Given the description of an element on the screen output the (x, y) to click on. 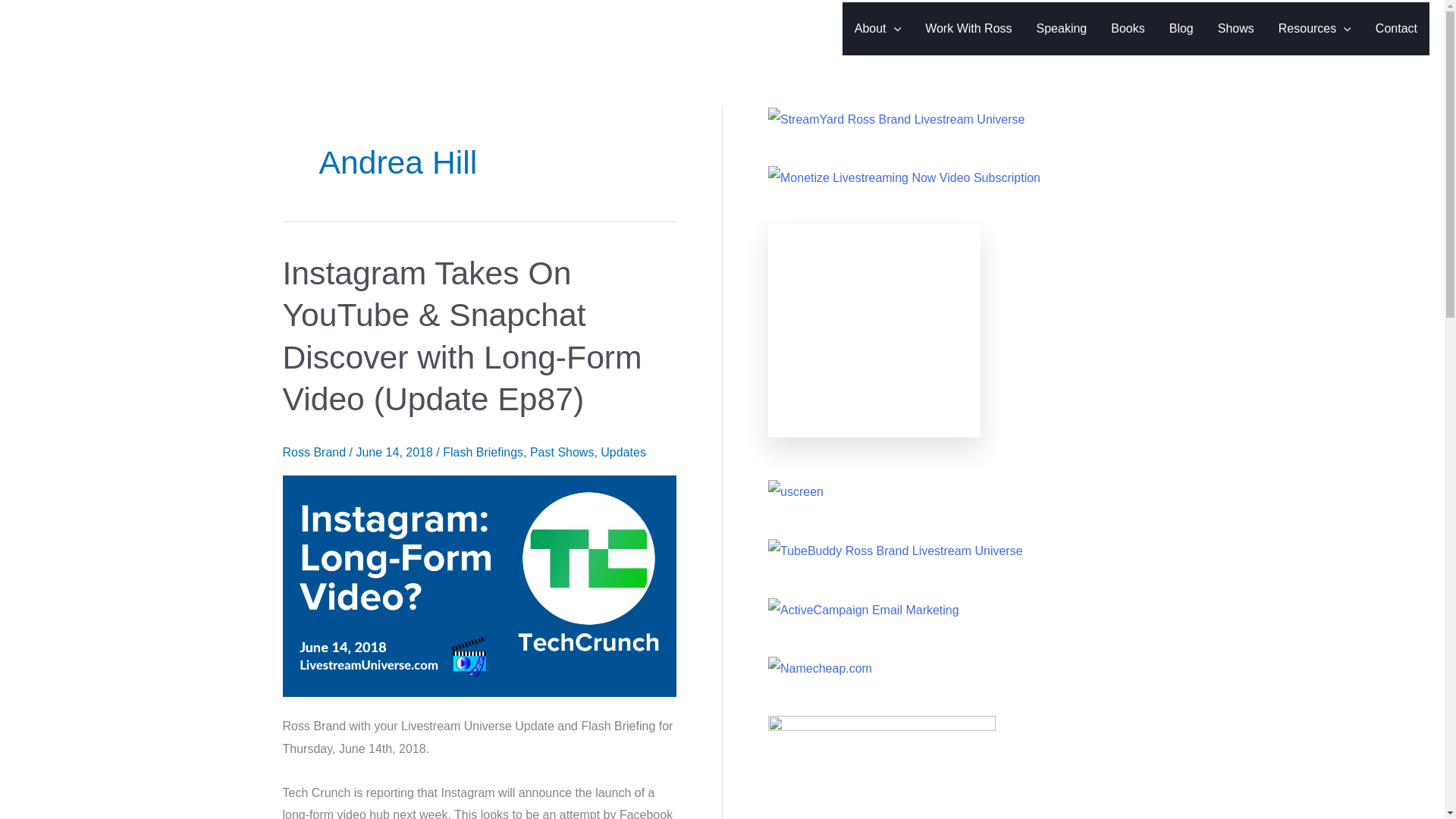
Shows (1235, 28)
Books (1127, 28)
View all posts by Ross Brand (315, 451)
Blog (1181, 28)
Work With Ross (967, 28)
Speaking (1062, 28)
Resources (1314, 28)
Livestream Universe (143, 29)
Contact (1395, 28)
About (877, 28)
